Given the description of an element on the screen output the (x, y) to click on. 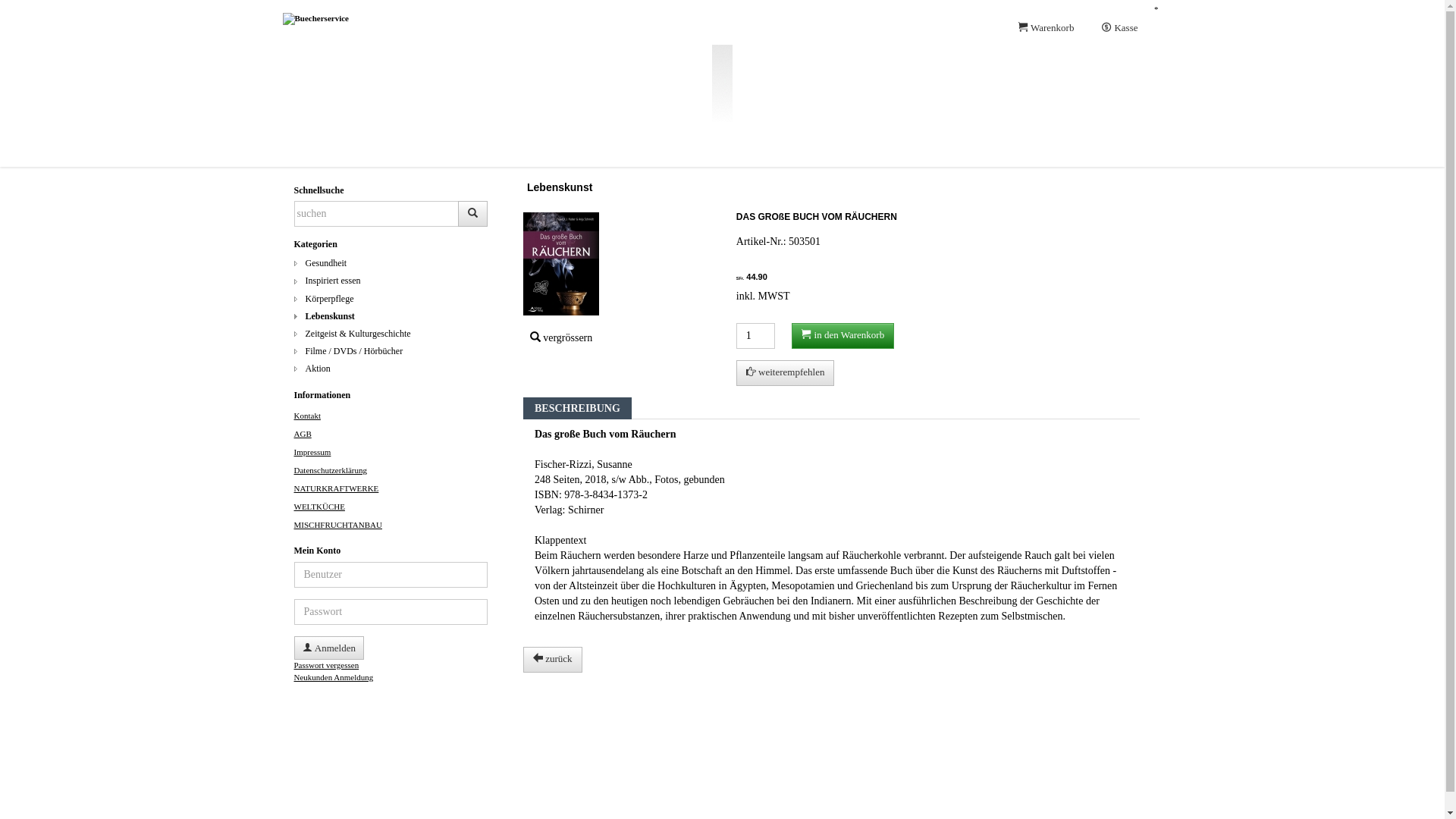
* Element type: text (1156, 9)
AGB Element type: text (302, 433)
Kontakt Element type: text (307, 415)
Warenkorb Element type: text (1046, 29)
Inspiriert essen Element type: text (391, 280)
Gesundheit Element type: text (391, 263)
Zeitgeist & Kulturgeschichte Element type: text (391, 333)
NATURKRAFTWERKE Element type: text (336, 487)
weiterempfehlen Element type: text (785, 372)
Anmelden Element type: text (329, 648)
MISCHFRUCHTANBAU Element type: text (338, 524)
Lebenskunst Element type: text (391, 316)
Passwort vergessen Element type: text (326, 664)
Impressum Element type: text (312, 451)
Neukunden Anmeldung Element type: text (333, 676)
Kasse Element type: text (1119, 29)
BESCHREIBUNG Element type: text (577, 408)
Aktion Element type: text (391, 368)
Lebenskunst Element type: text (559, 187)
in den Warenkorb Element type: text (842, 335)
